Given the description of an element on the screen output the (x, y) to click on. 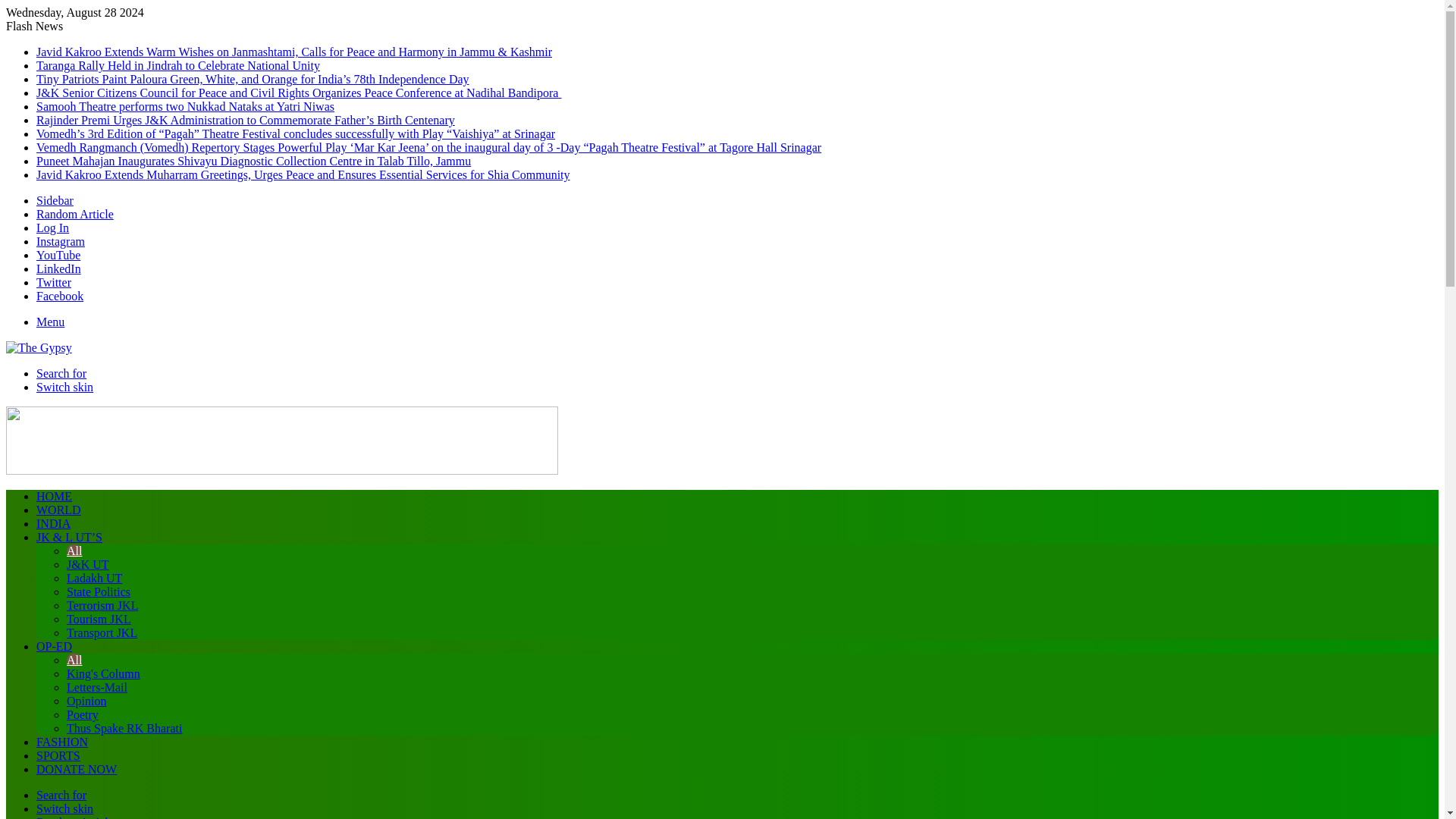
Transport JKL (101, 632)
Switch skin (64, 386)
Taranga Rally Held in Jindrah to Celebrate National Unity (178, 65)
Letters-Mail (97, 686)
Twitter (53, 282)
LinkedIn (58, 268)
Facebook (59, 295)
All (73, 550)
